Given the description of an element on the screen output the (x, y) to click on. 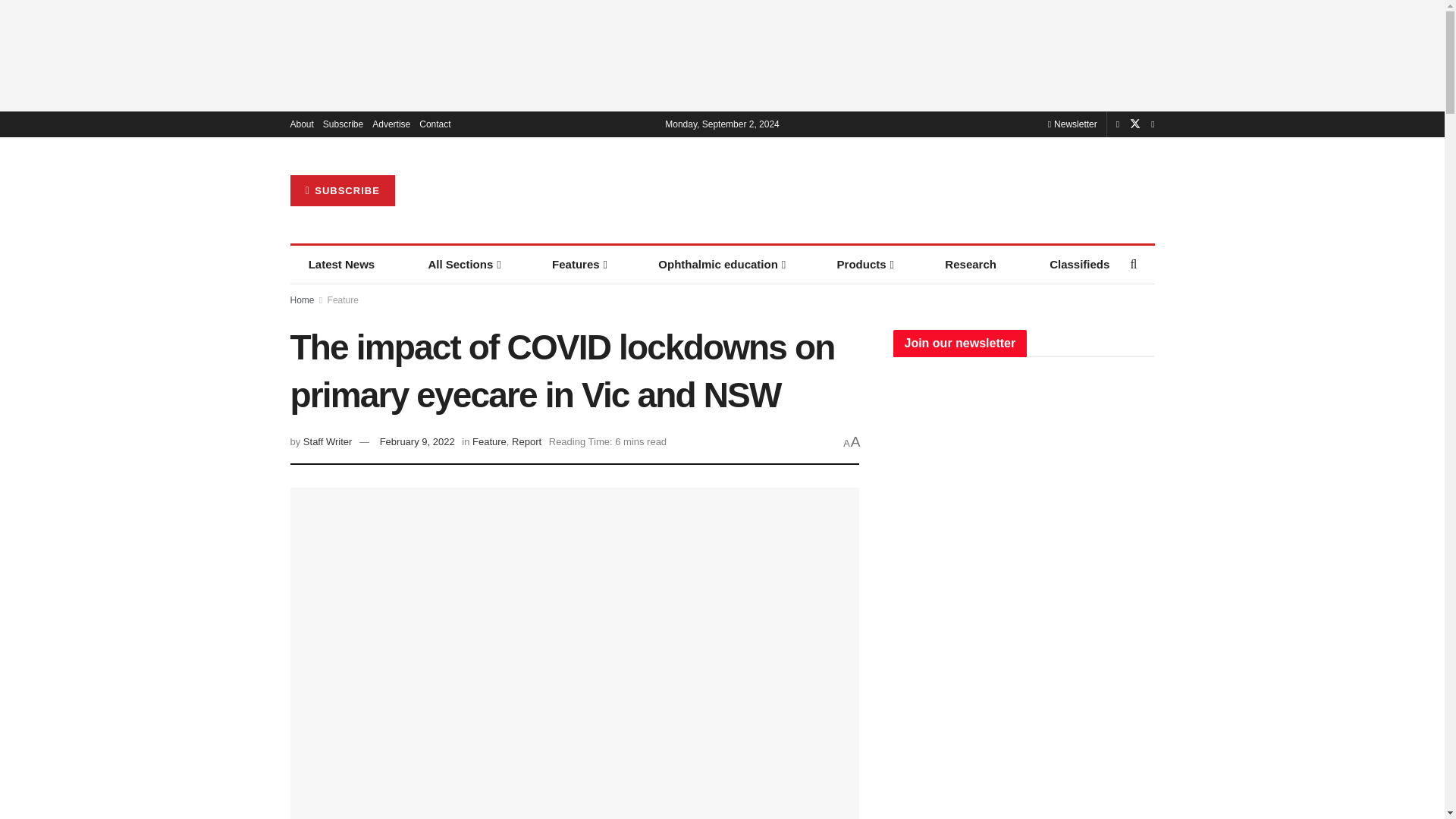
All Sections (462, 264)
Newsletter (1072, 123)
Subscribe (342, 124)
Advertise (391, 124)
SUBSCRIBE (341, 190)
Contact (434, 124)
Latest News (341, 264)
About (301, 124)
